Given the description of an element on the screen output the (x, y) to click on. 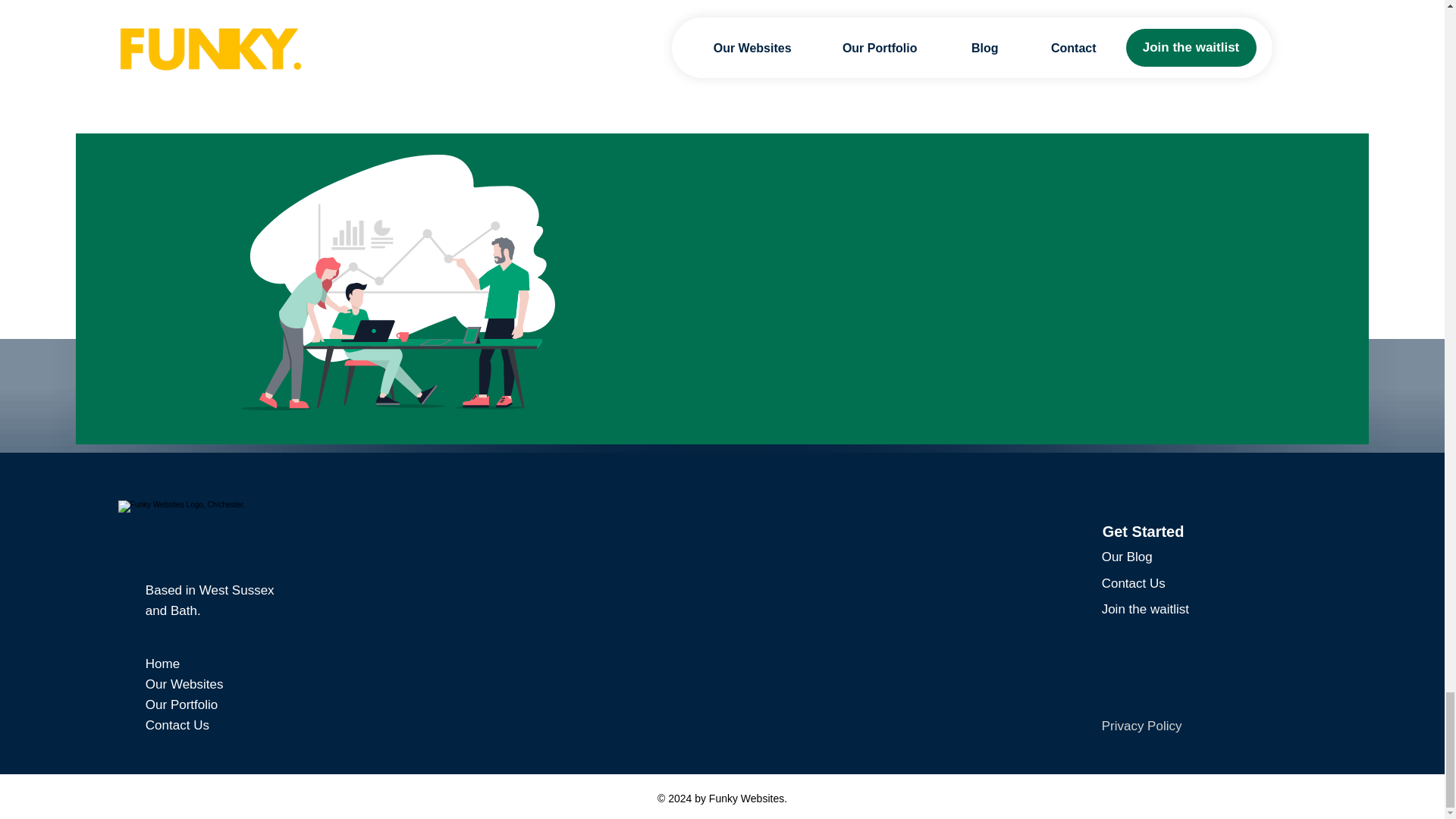
Join the waitlist (1145, 608)
Our Portfolio (180, 704)
Home (162, 663)
Privacy Policy (1142, 726)
Contact Us (177, 725)
Our Blog (1127, 555)
Contact Us (1134, 583)
Our Websites (184, 684)
